Given the description of an element on the screen output the (x, y) to click on. 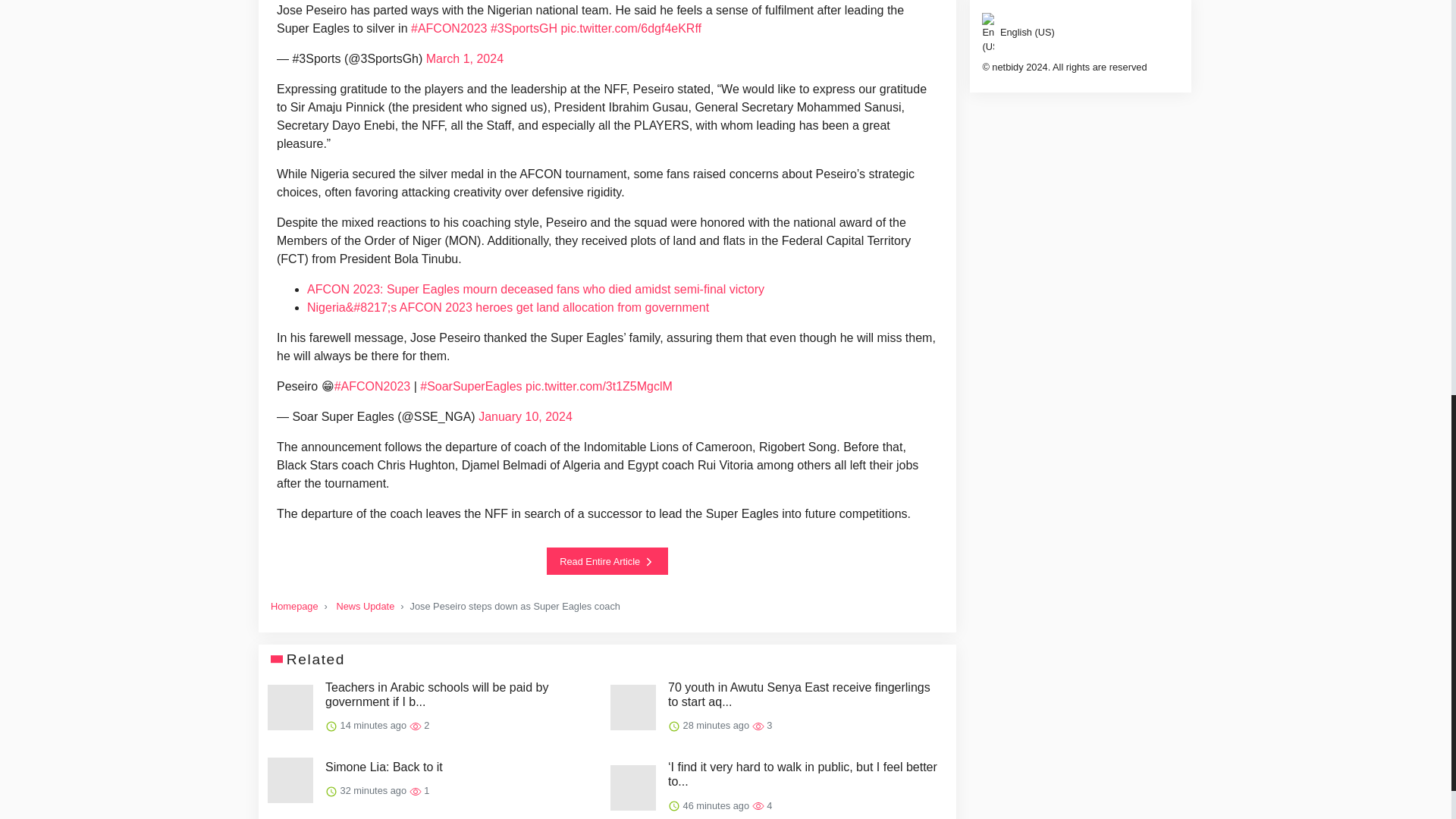
March 1, 2024 (464, 58)
Read Entire Article (607, 560)
News Update (365, 605)
January 10, 2024 (525, 416)
Homepage (294, 605)
Simone Lia: Back to it (383, 766)
